Given the description of an element on the screen output the (x, y) to click on. 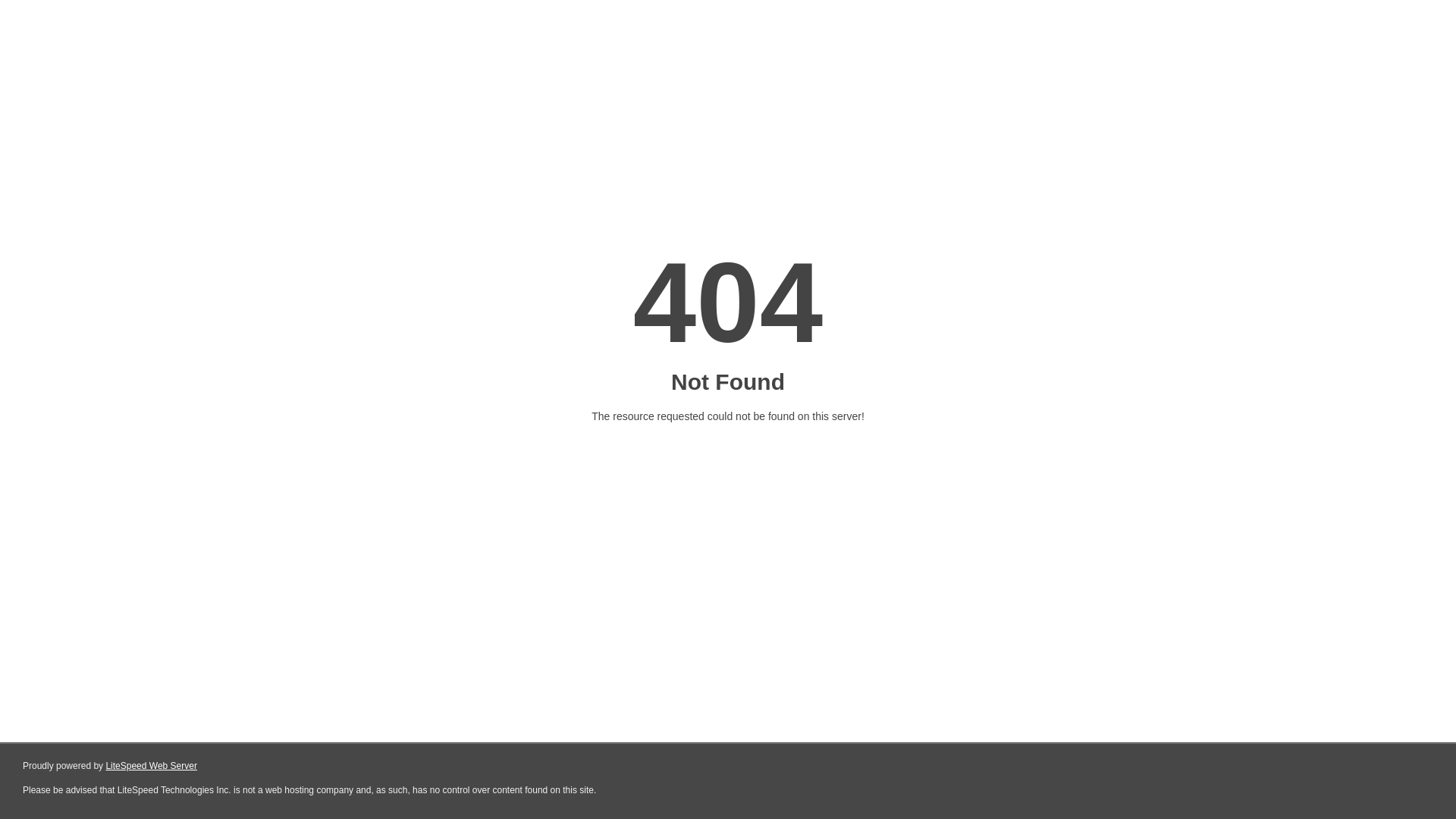
LiteSpeed Web Server Element type: text (151, 765)
